Given the description of an element on the screen output the (x, y) to click on. 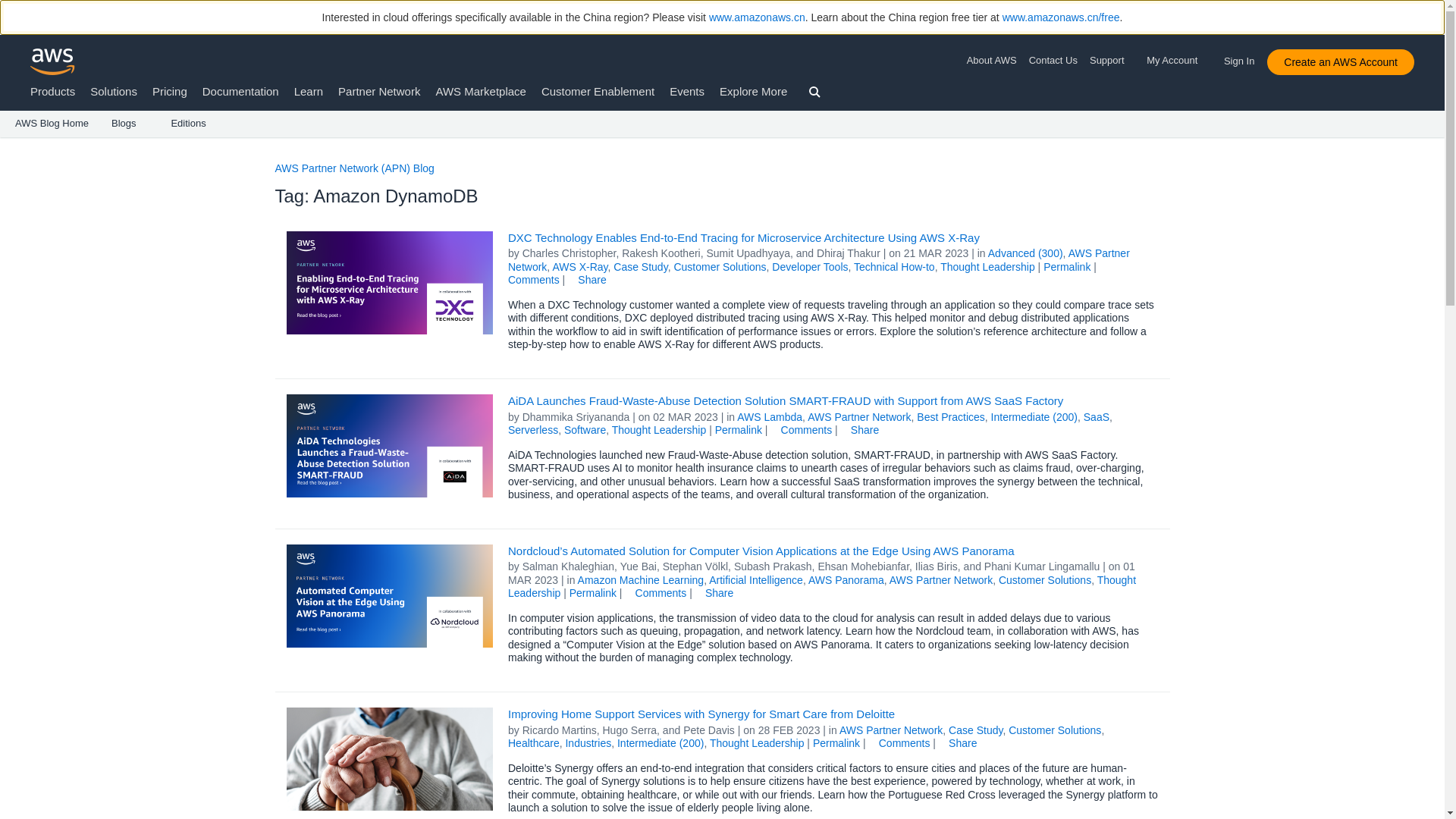
Documentation (240, 91)
Partner Network (378, 91)
AWS Marketplace (480, 91)
View all posts in AWS Partner Network (818, 259)
Explore More (753, 91)
Pricing (169, 91)
Learn (308, 91)
Customer Enablement (597, 91)
View all posts in Case Study (639, 266)
Skip to Main Content (7, 143)
